Given the description of an element on the screen output the (x, y) to click on. 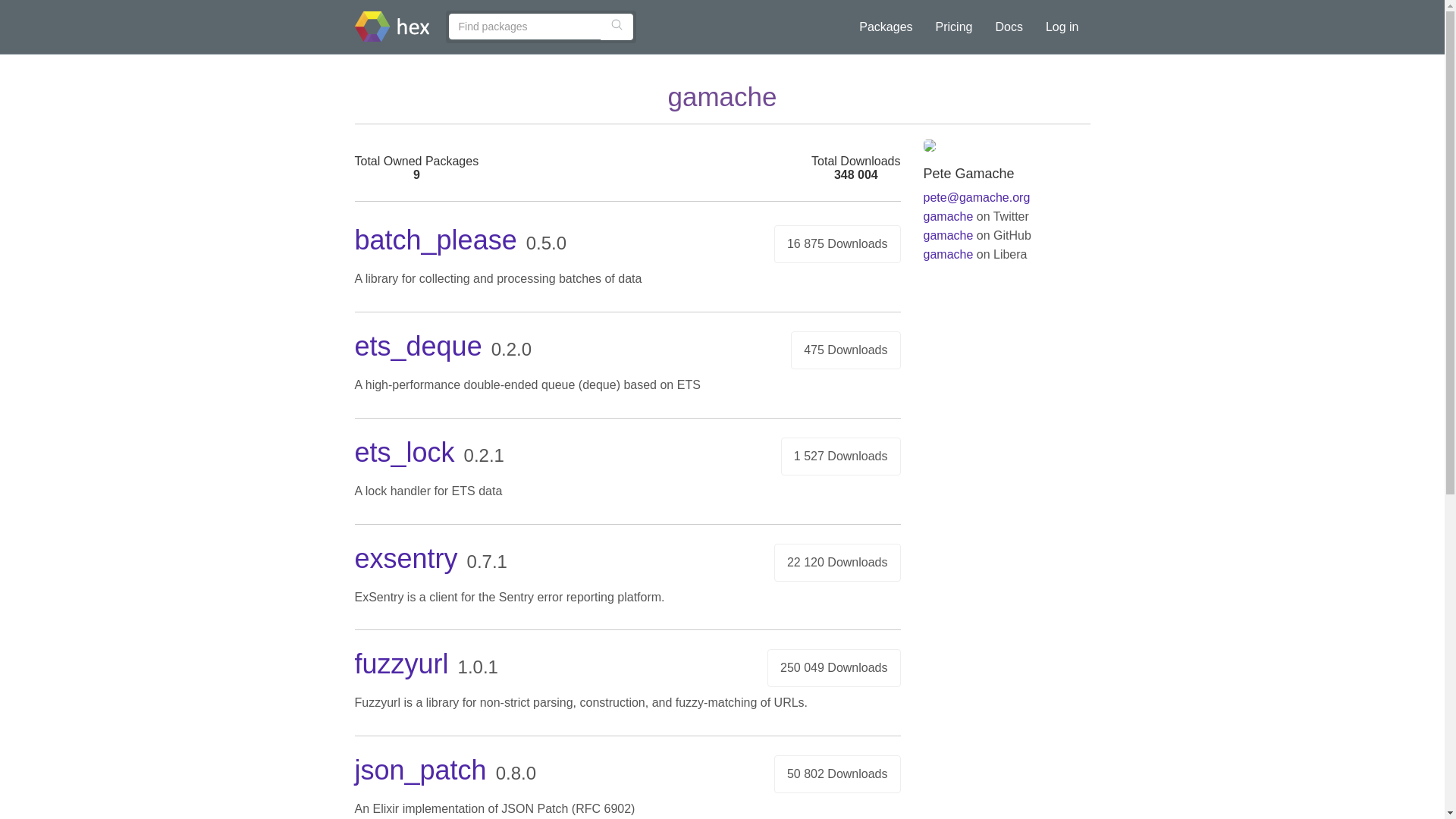
magnifying-glass (616, 24)
gamache (948, 215)
magnifying-glass (616, 24)
Docs (1008, 26)
Packages (885, 26)
gamache (948, 235)
gamache (948, 254)
fuzzyurl (401, 663)
exsentry (406, 558)
Log in (1061, 26)
Pricing (954, 26)
